Given the description of an element on the screen output the (x, y) to click on. 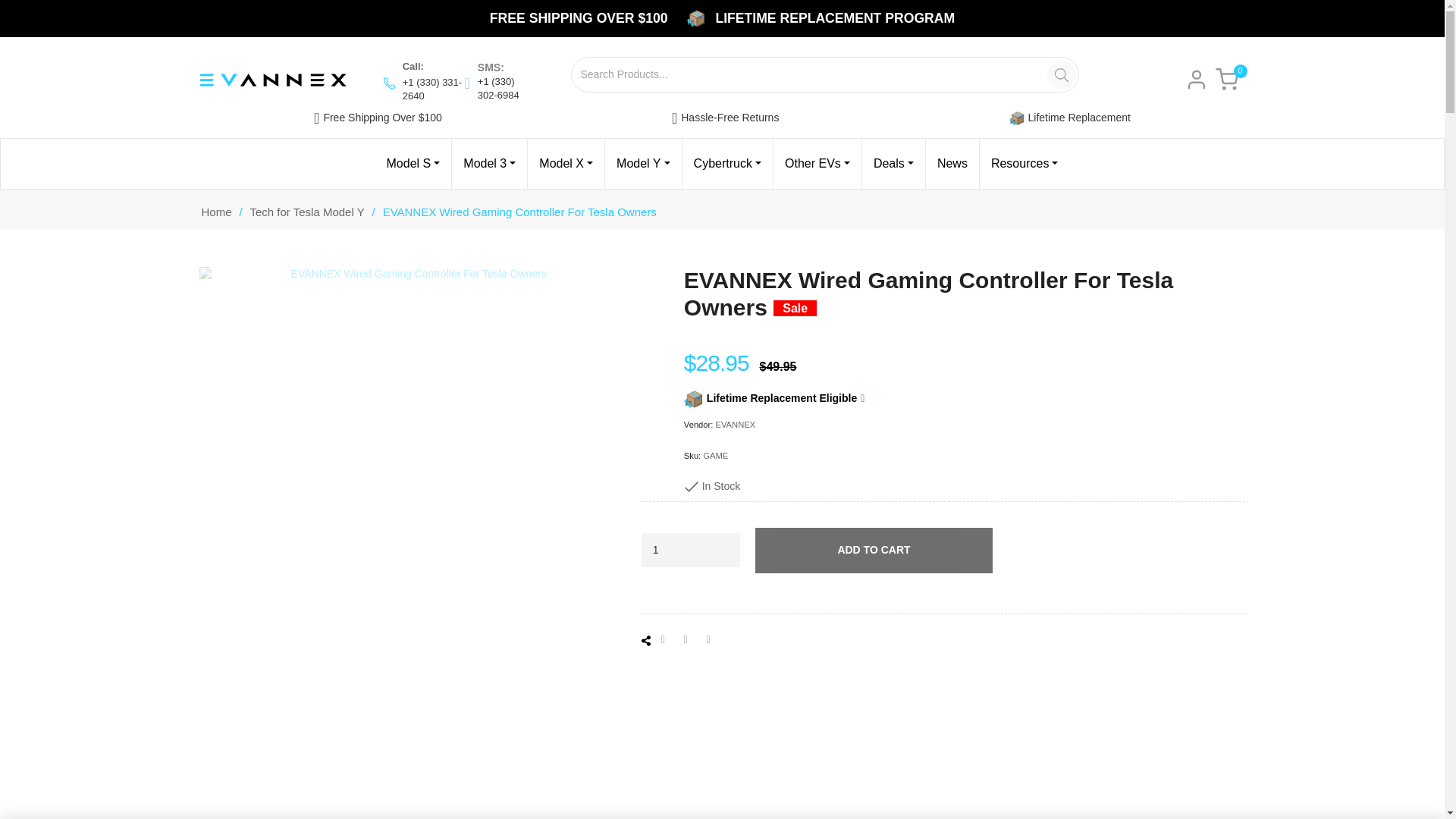
Home (215, 212)
Model S (413, 163)
Tweet on Twitter (691, 639)
LIFETIME REPLACEMENT PROGRAM (834, 17)
Share on Facebook (669, 639)
Pin on Pinterest (712, 639)
Model 3 (489, 163)
Shopping Cart (1225, 78)
1 (690, 550)
